Given the description of an element on the screen output the (x, y) to click on. 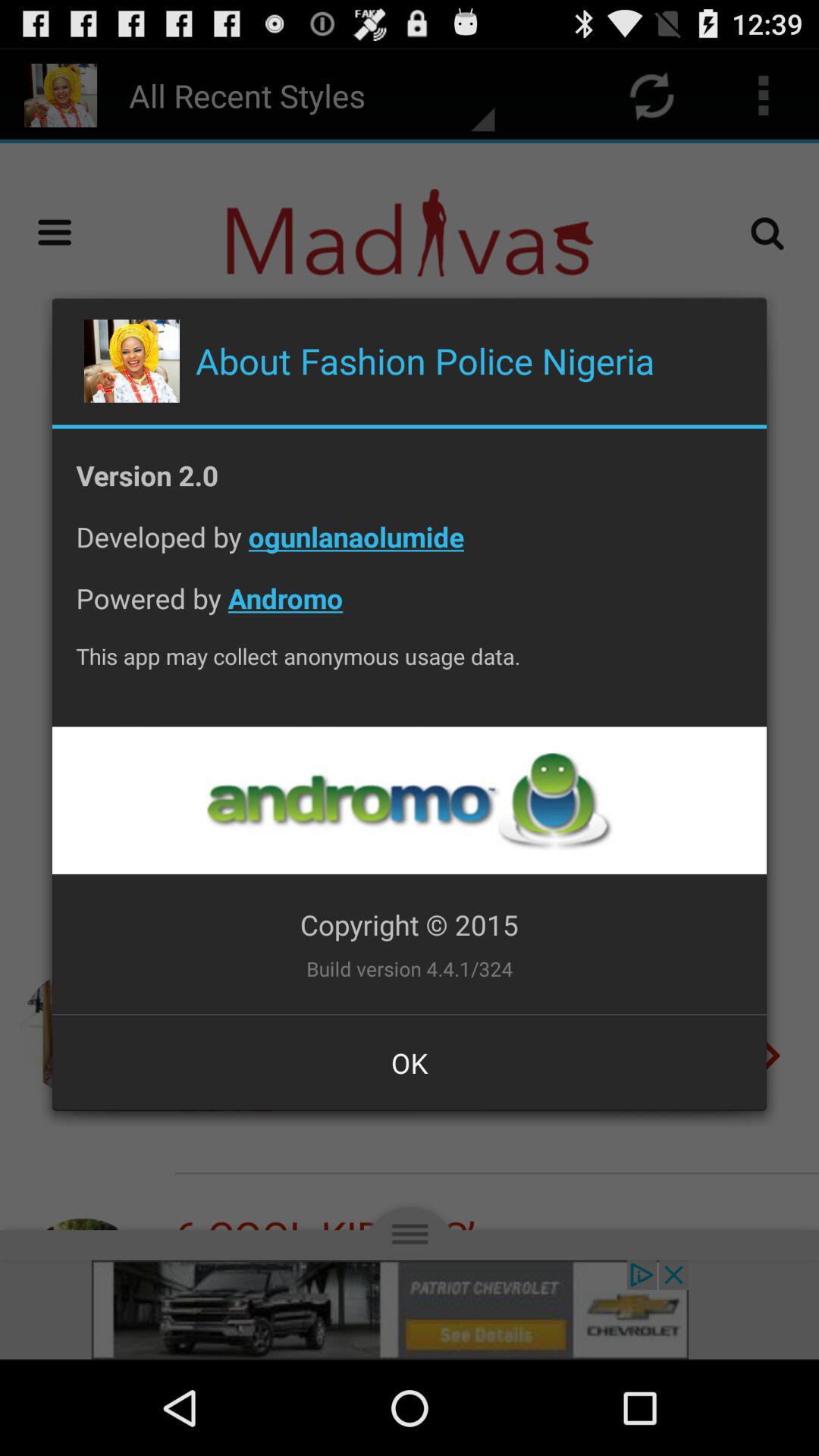
turn on the item below version 2.0 (409, 548)
